Given the description of an element on the screen output the (x, y) to click on. 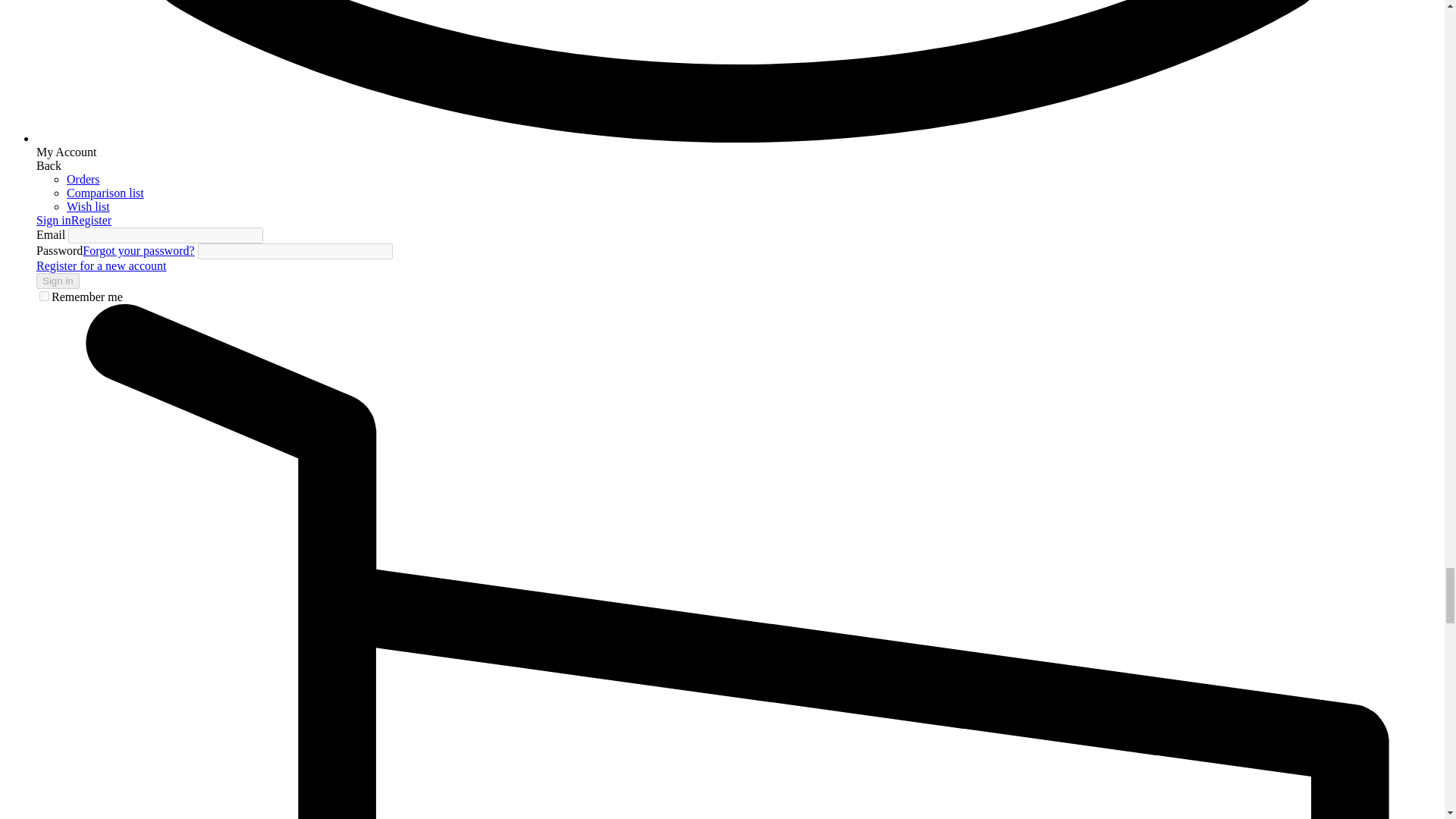
Y (44, 296)
